Given the description of an element on the screen output the (x, y) to click on. 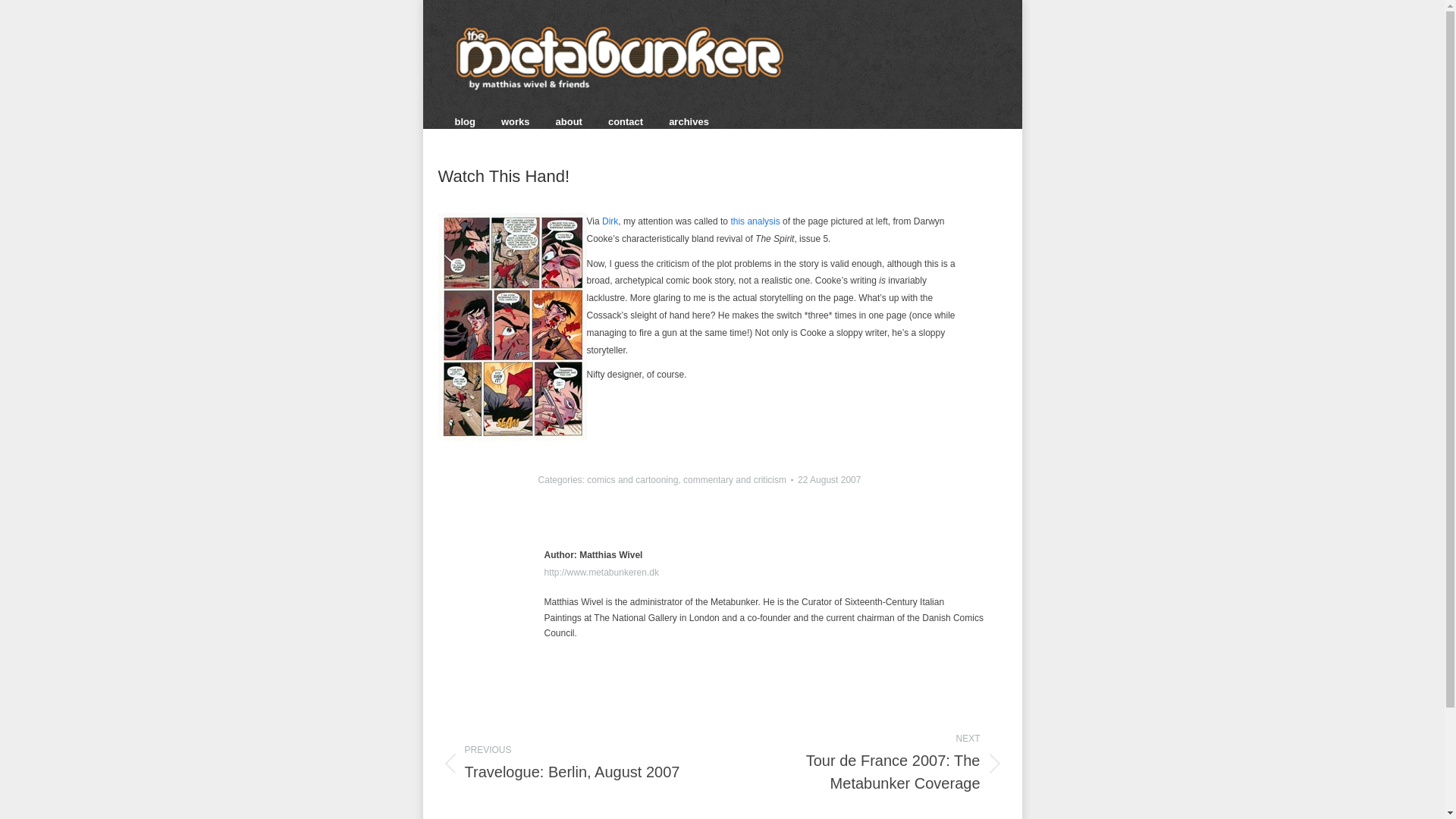
14:58 (828, 480)
22 August 2007 (828, 480)
this analysis (754, 221)
comics and cartooning (632, 480)
archives (875, 763)
commentary and criticism (688, 121)
about (734, 480)
blog (569, 121)
Dirk (569, 763)
contact (464, 121)
works (609, 221)
